Given the description of an element on the screen output the (x, y) to click on. 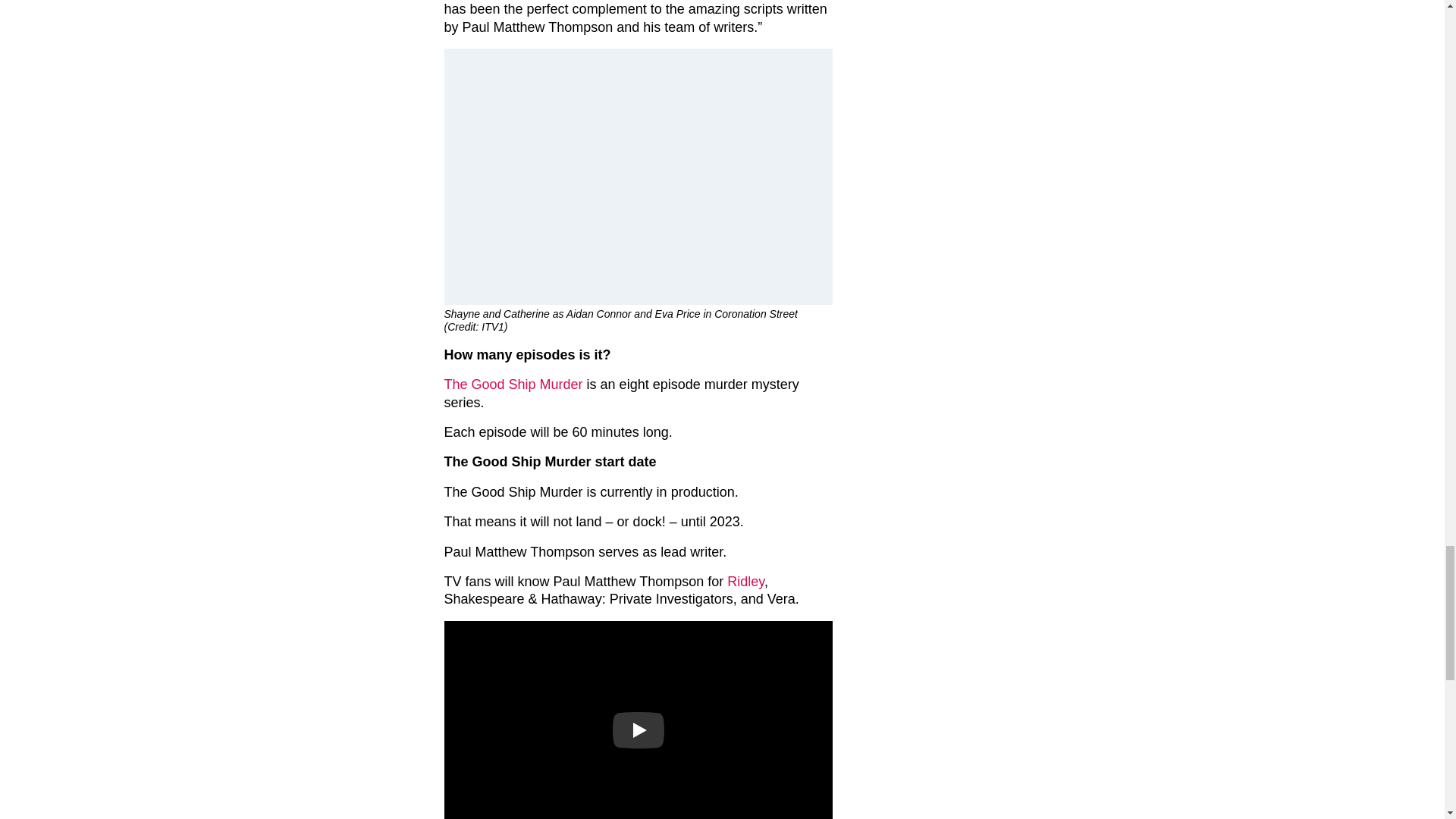
The Good Ship Murder (513, 384)
Play Video (637, 729)
Ridley (745, 581)
